Given the description of an element on the screen output the (x, y) to click on. 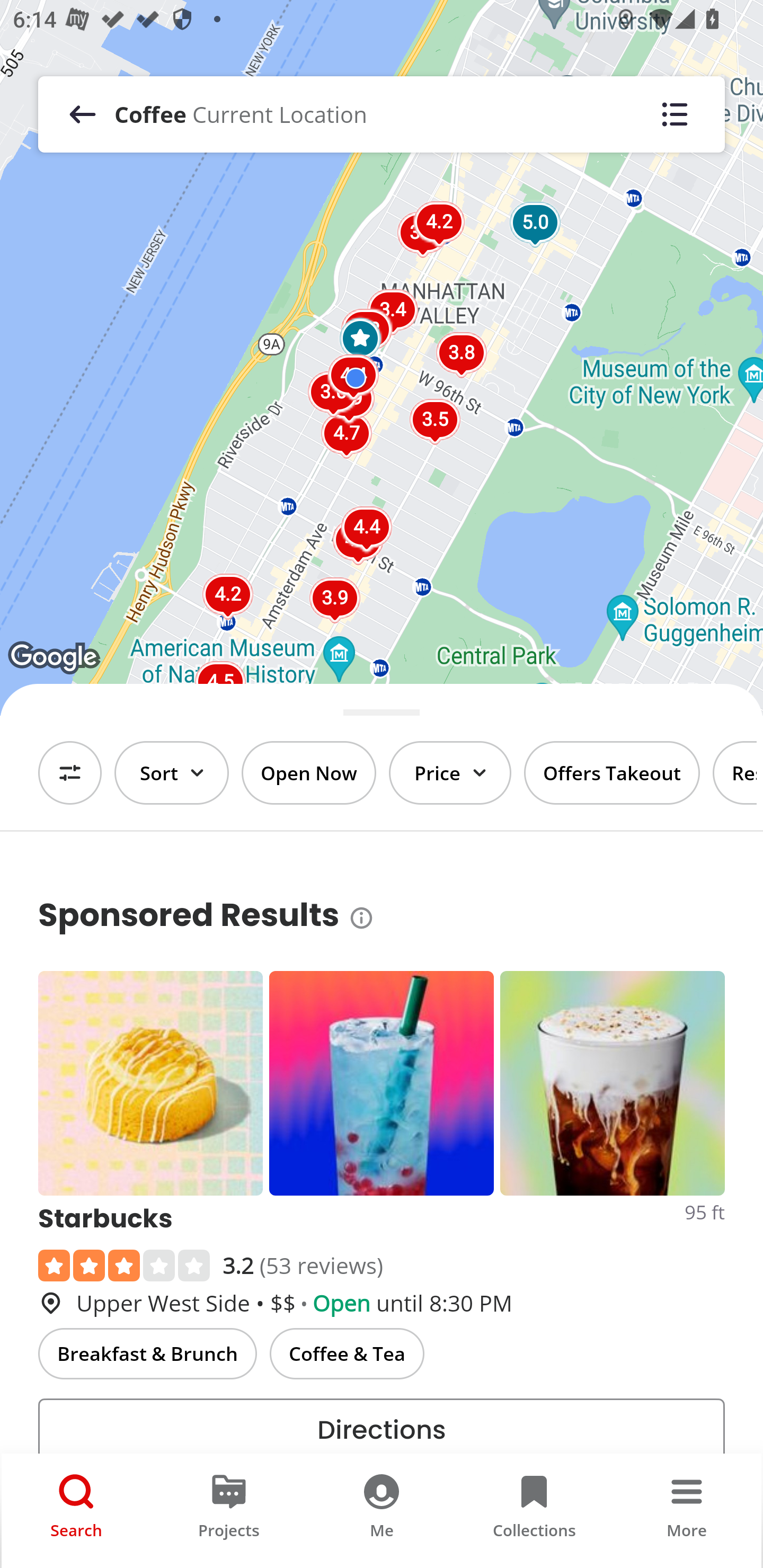
Sort (171, 772)
